Given the description of an element on the screen output the (x, y) to click on. 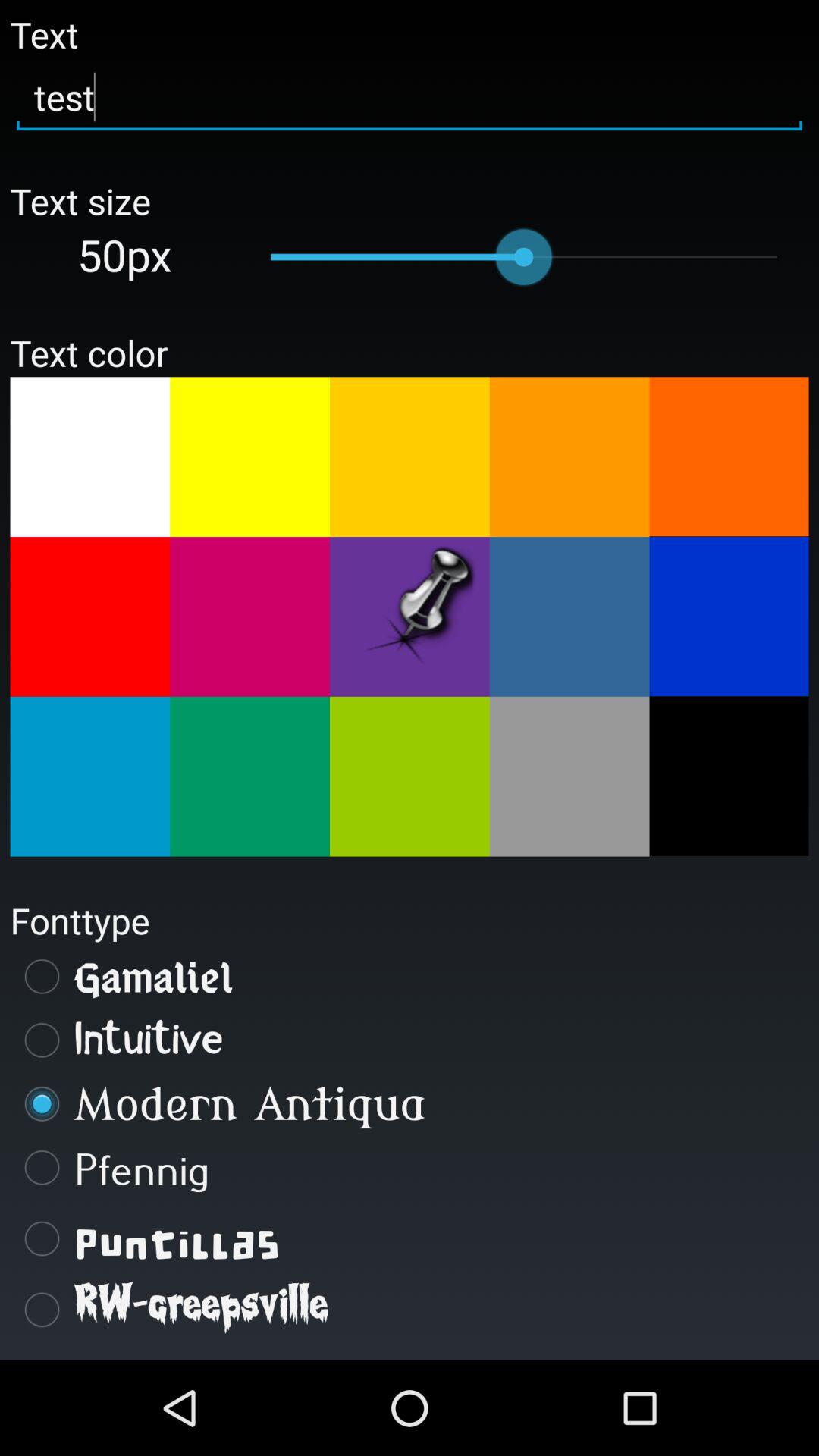
pin color (409, 616)
